Given the description of an element on the screen output the (x, y) to click on. 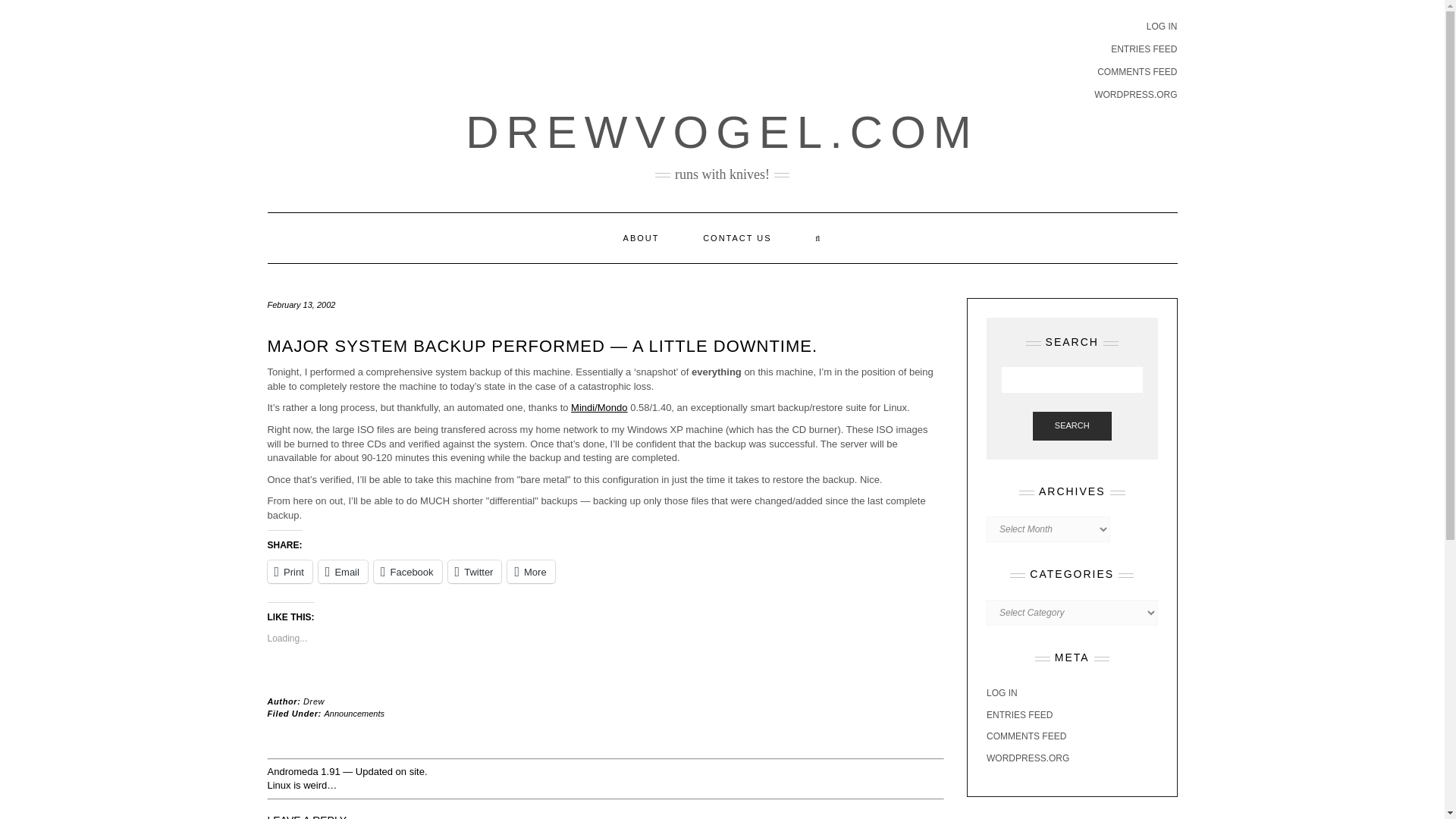
CONTACT US (737, 237)
Click to share on Twitter (475, 571)
Click to print (288, 571)
LOG IN (1002, 692)
LOG IN (1162, 26)
Click to email a link to a friend (343, 571)
SEARCH (1072, 425)
Announcements (354, 713)
DREWVOGEL.COM (721, 132)
Drew (313, 700)
